Given the description of an element on the screen output the (x, y) to click on. 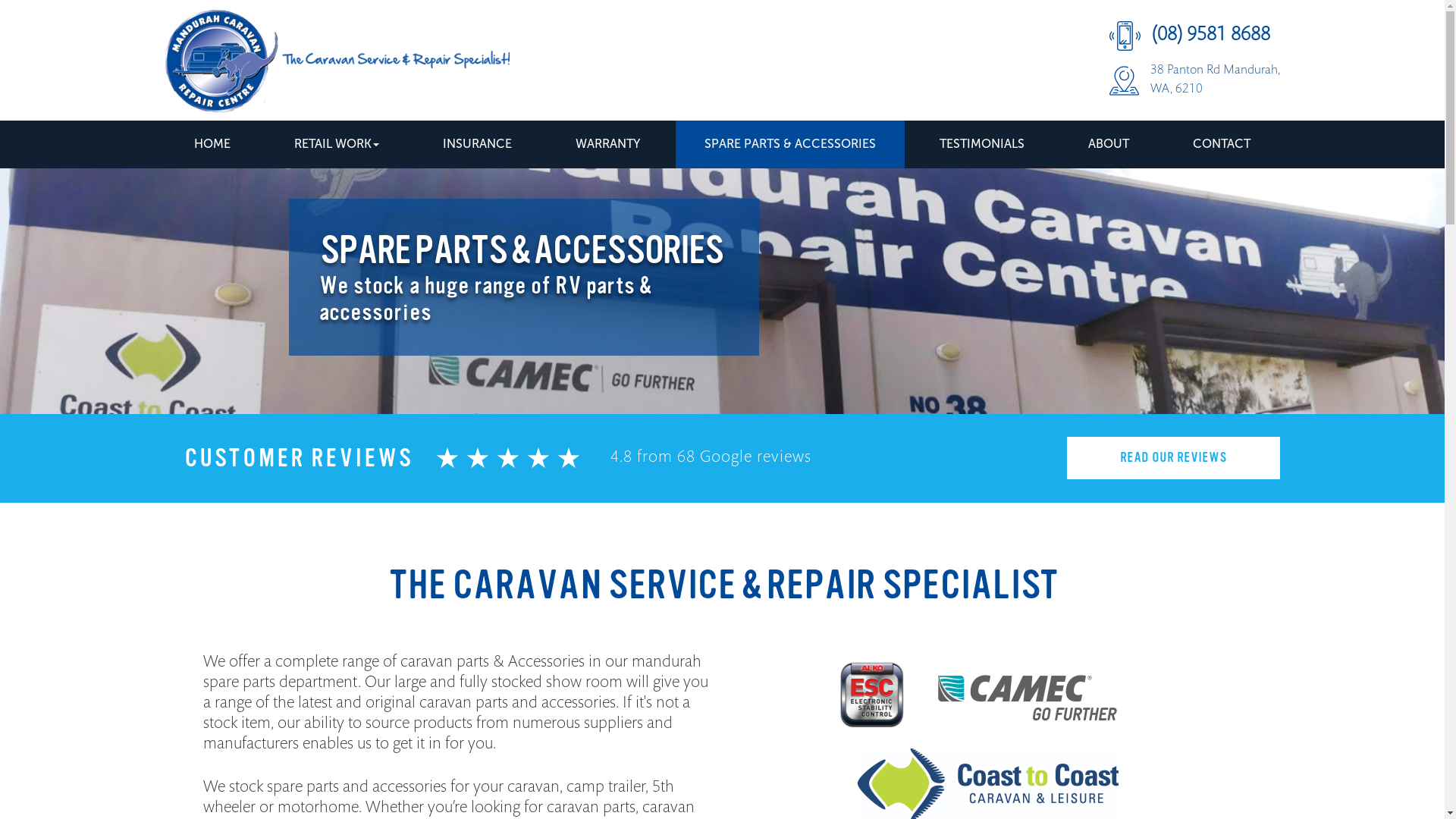
38 Panton Rd Mandurah,
WA, 6210 Element type: text (1193, 80)
HOME Element type: text (212, 144)
READ OUR REVIEWS Element type: text (1172, 457)
ABOUT Element type: text (1108, 144)
CONTACT Element type: text (1221, 144)
WARRANTY Element type: text (607, 144)
INSURANCE Element type: text (477, 144)
TESTIMONIALS Element type: text (981, 144)
SPARE PARTS & ACCESSORIES Element type: text (789, 144)
(08) 9581 8688 Element type: text (1193, 35)
RETAIL WORK Element type: text (336, 144)
